Given the description of an element on the screen output the (x, y) to click on. 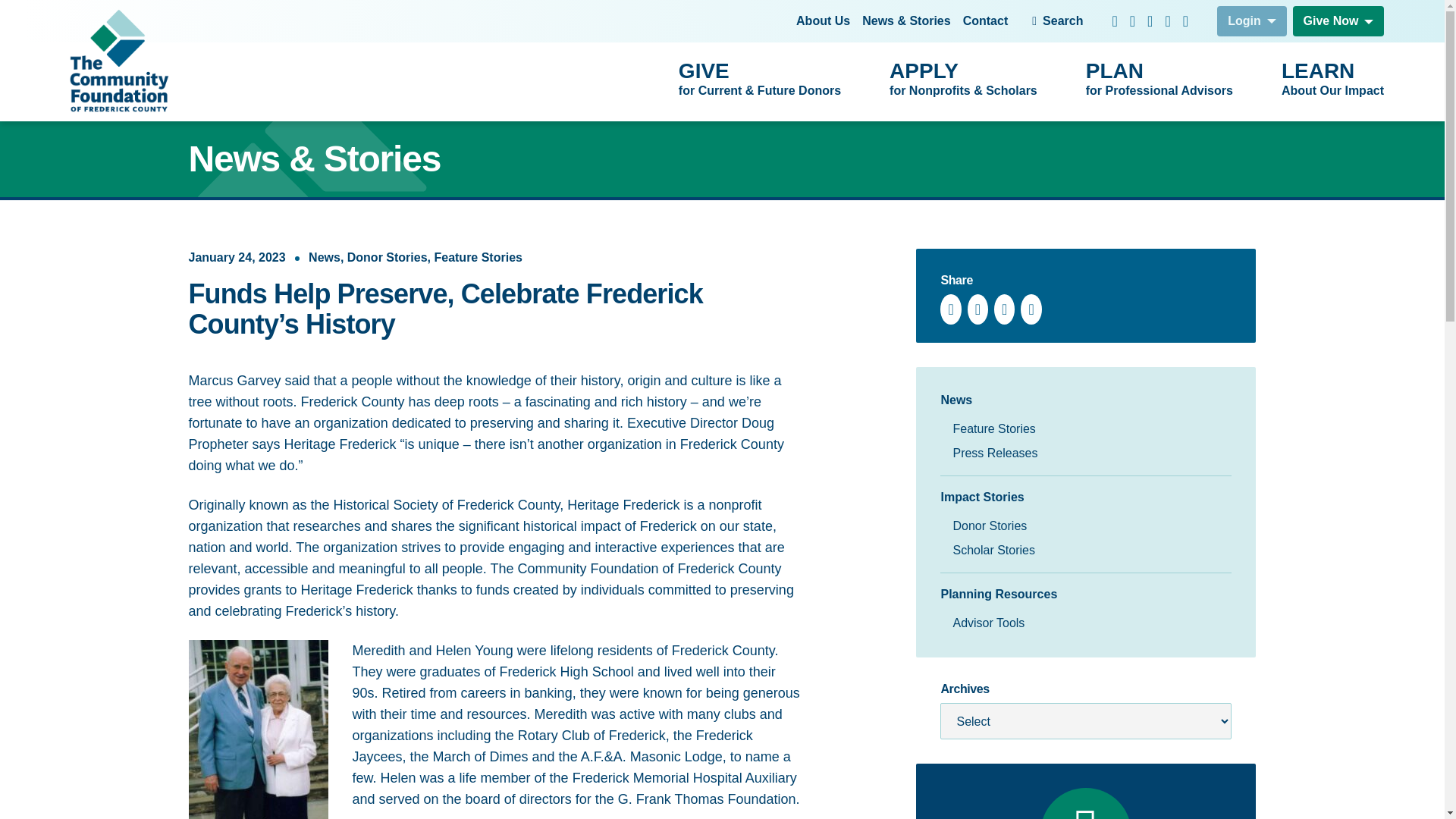
Login (1252, 20)
Contact (1159, 79)
About Us (985, 21)
Search (823, 21)
